Given the description of an element on the screen output the (x, y) to click on. 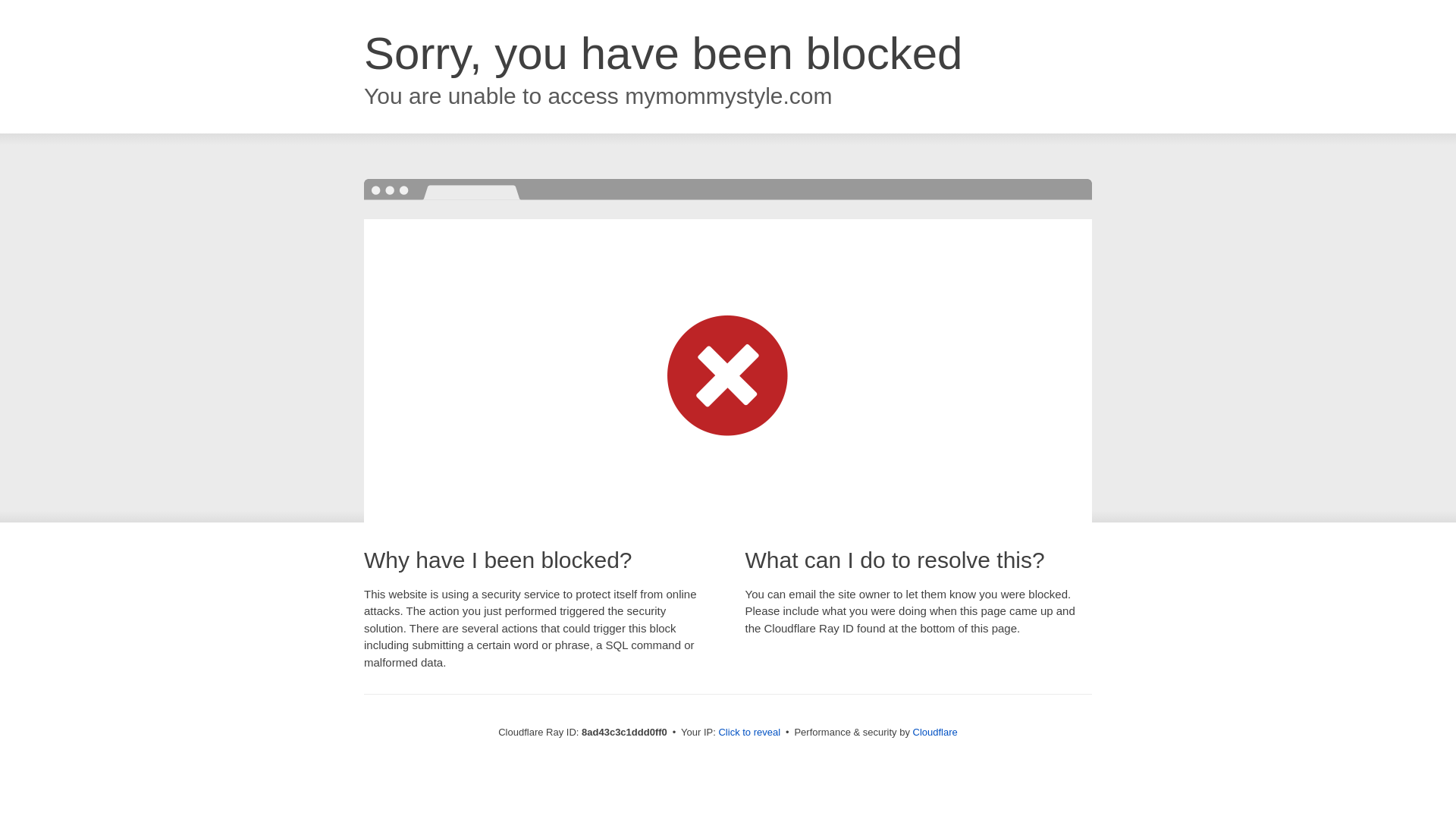
Cloudflare (935, 731)
Click to reveal (748, 732)
